Given the description of an element on the screen output the (x, y) to click on. 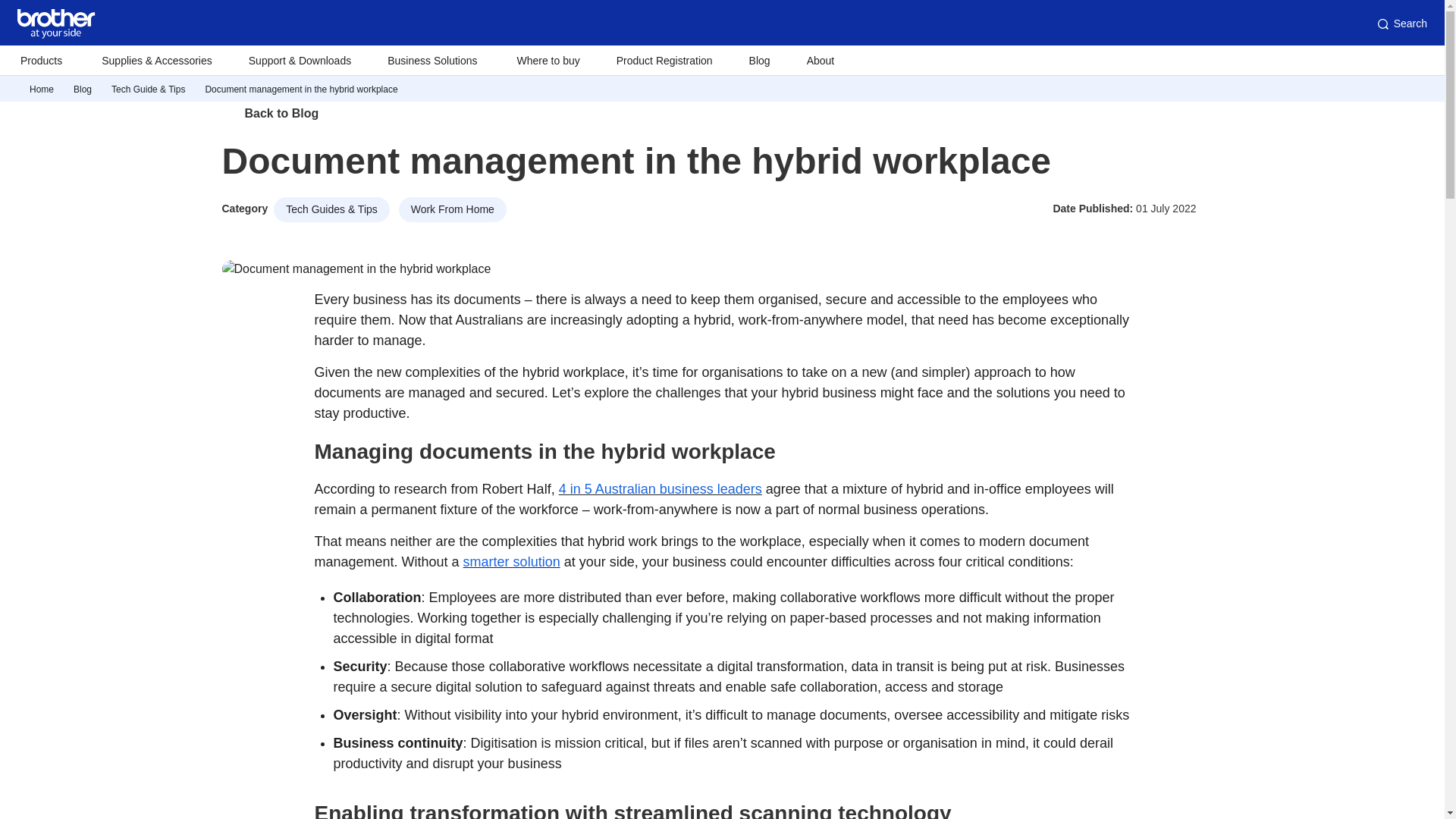
Search (1400, 23)
blog (82, 89)
tech-guides-tips (148, 89)
Home (41, 89)
